Given the description of an element on the screen output the (x, y) to click on. 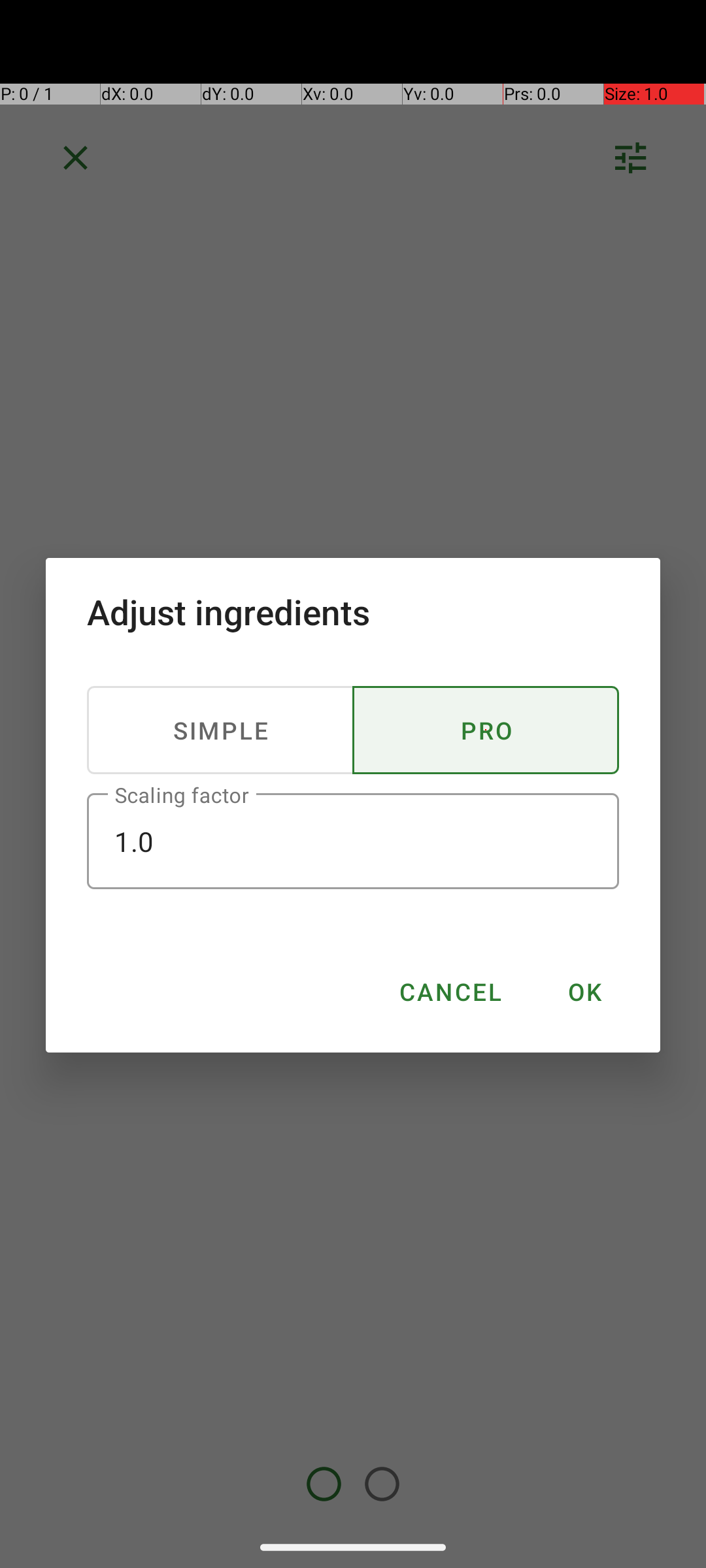
1.0 Element type: android.widget.EditText (352, 841)
